Given the description of an element on the screen output the (x, y) to click on. 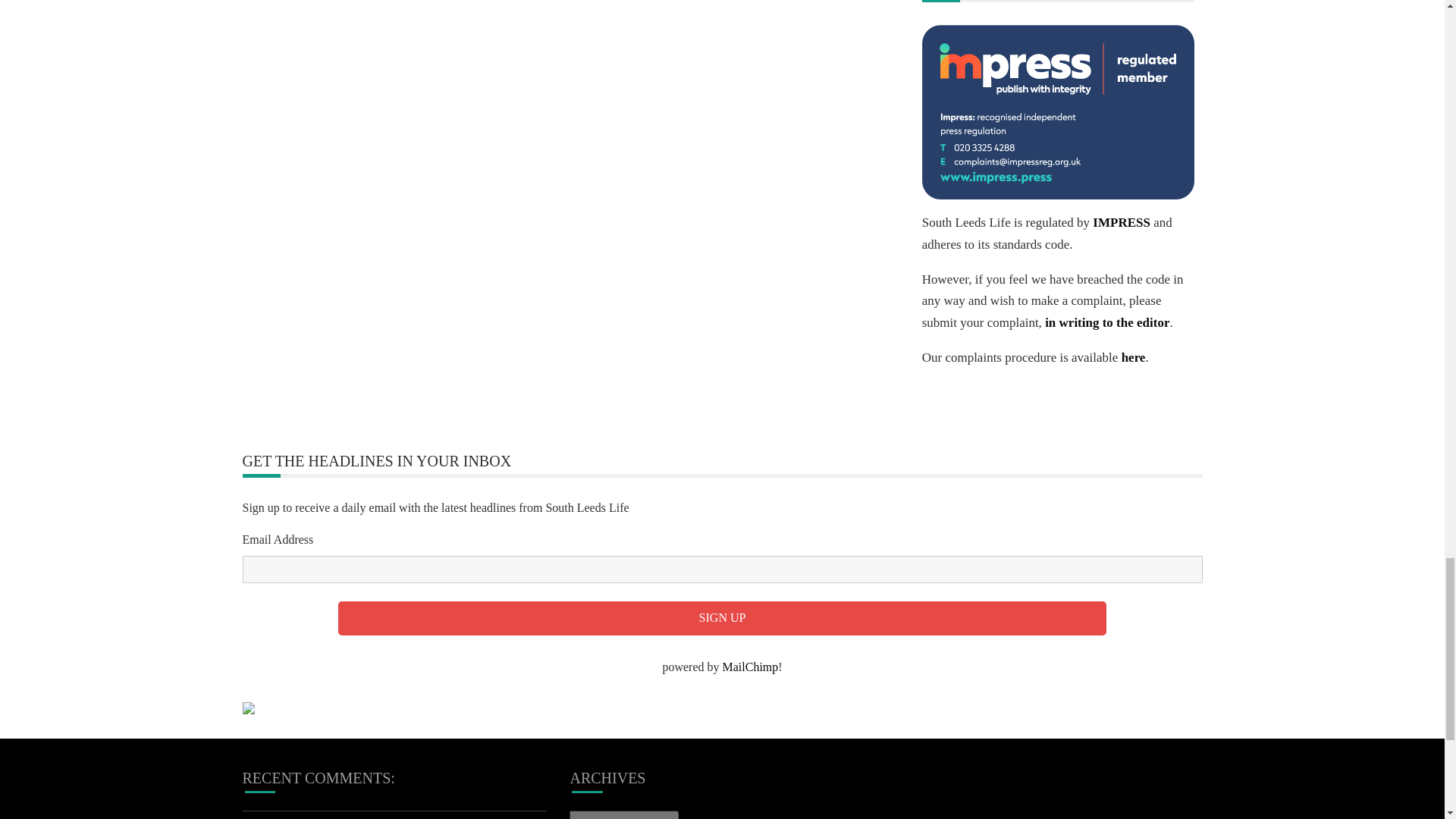
Sign up (721, 618)
